Given the description of an element on the screen output the (x, y) to click on. 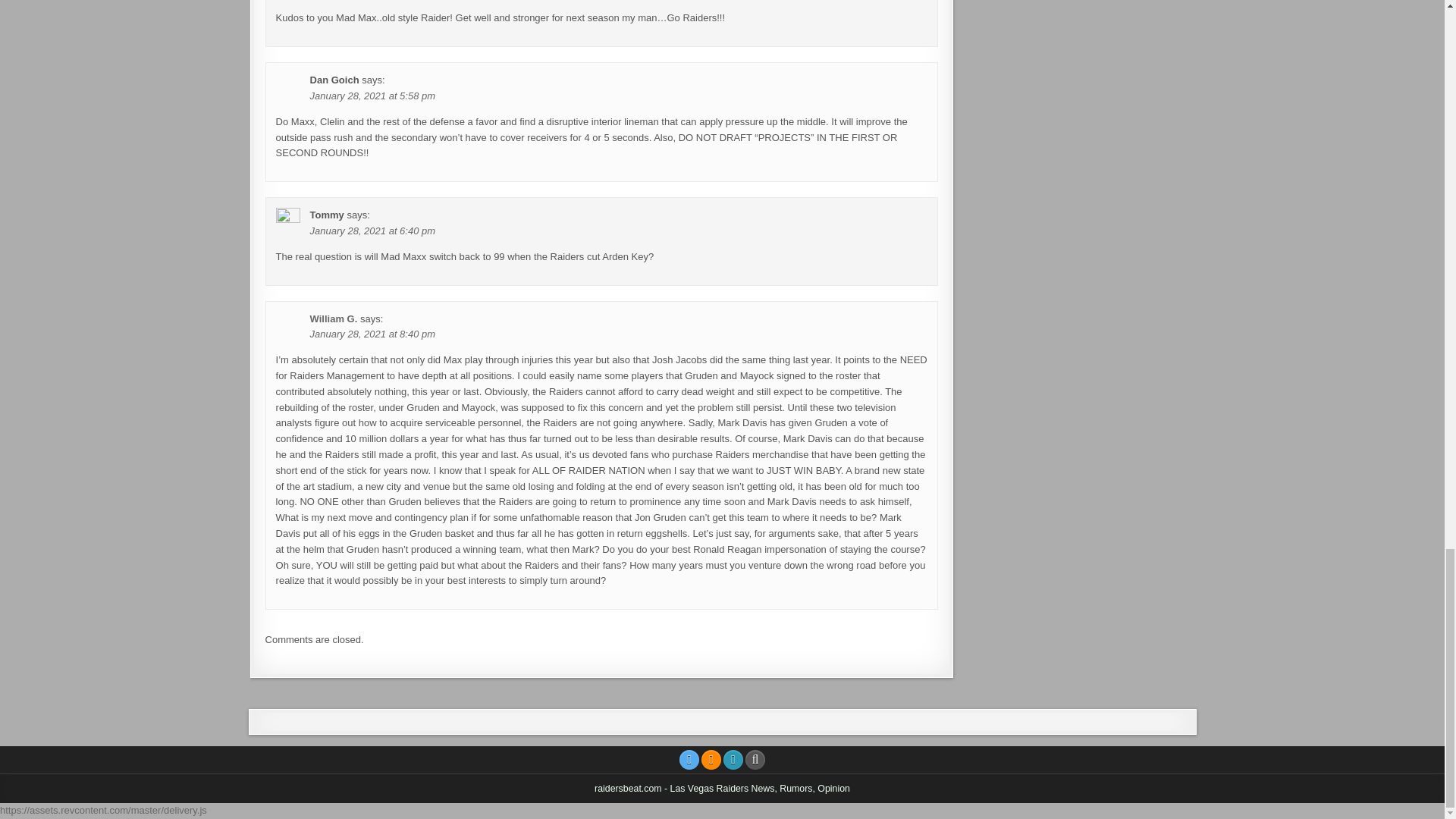
January 28, 2021 at 5:58 pm (372, 95)
January 28, 2021 at 6:40 pm (372, 230)
January 28, 2021 at 8:40 pm (372, 333)
SoundCloud (710, 759)
William G. (334, 318)
Twitter (688, 759)
